Given the description of an element on the screen output the (x, y) to click on. 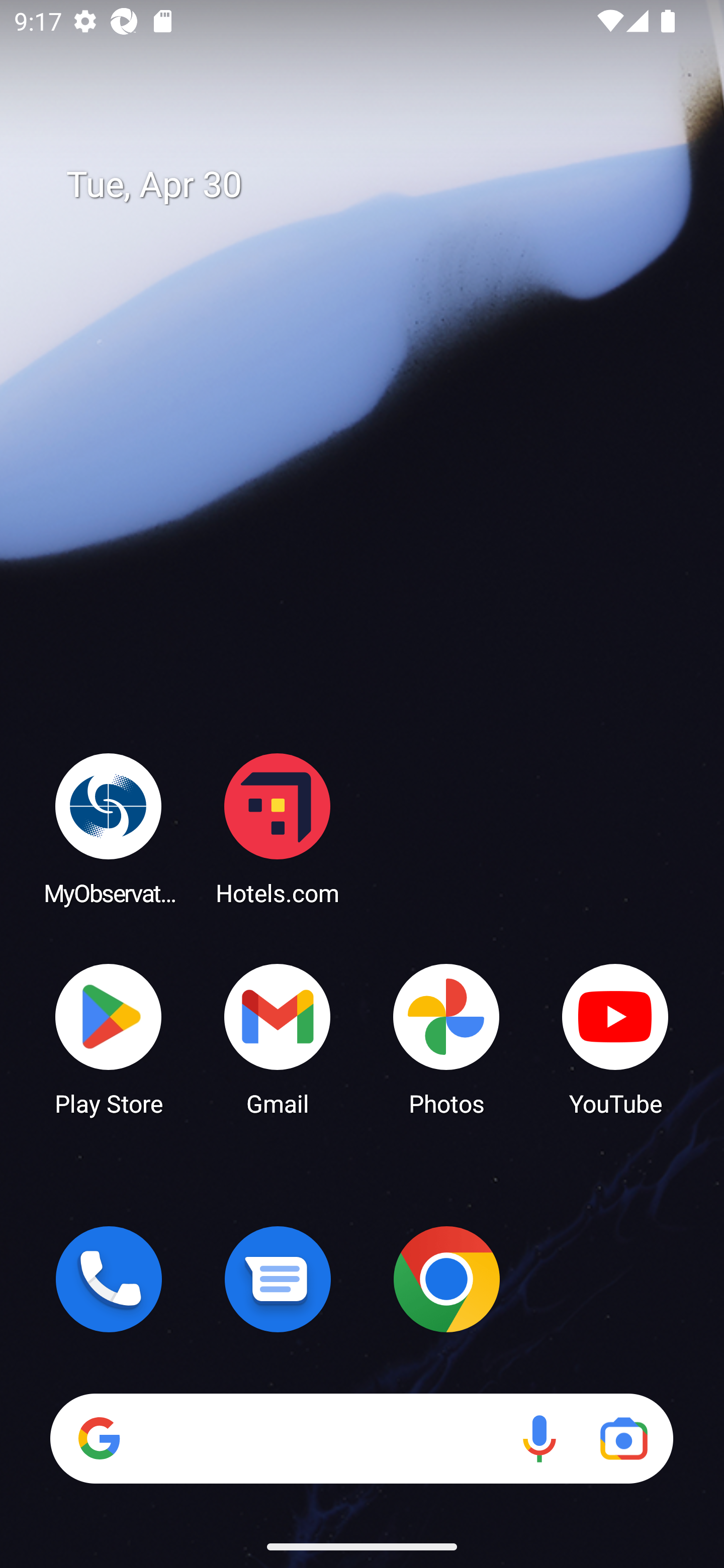
Tue, Apr 30 (375, 184)
MyObservatory (108, 828)
Hotels.com (277, 828)
Play Store (108, 1038)
Gmail (277, 1038)
Photos (445, 1038)
YouTube (615, 1038)
Phone (108, 1279)
Messages (277, 1279)
Chrome (446, 1279)
Voice search (539, 1438)
Google Lens (623, 1438)
